Given the description of an element on the screen output the (x, y) to click on. 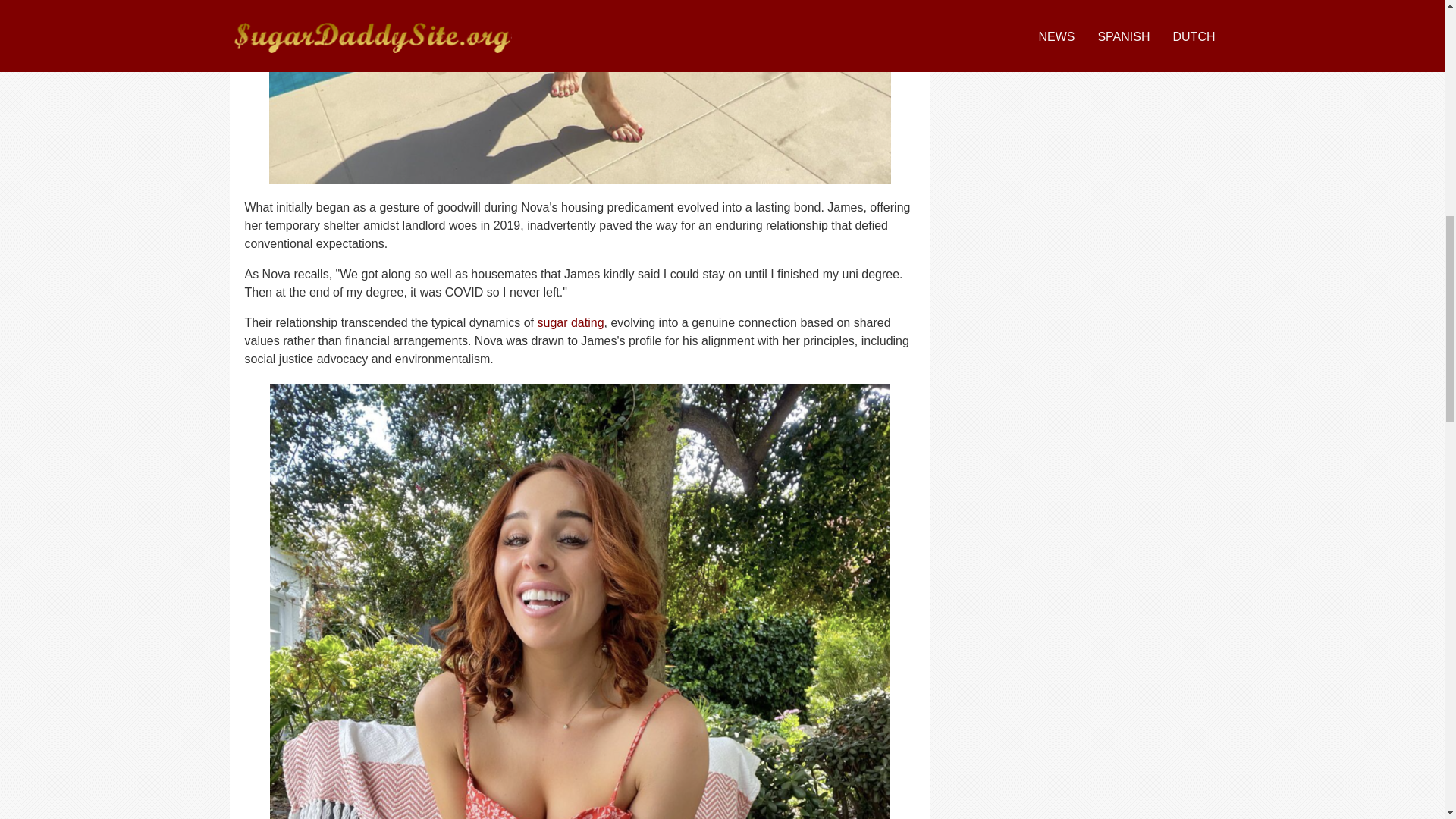
sugar dating (570, 322)
